Given the description of an element on the screen output the (x, y) to click on. 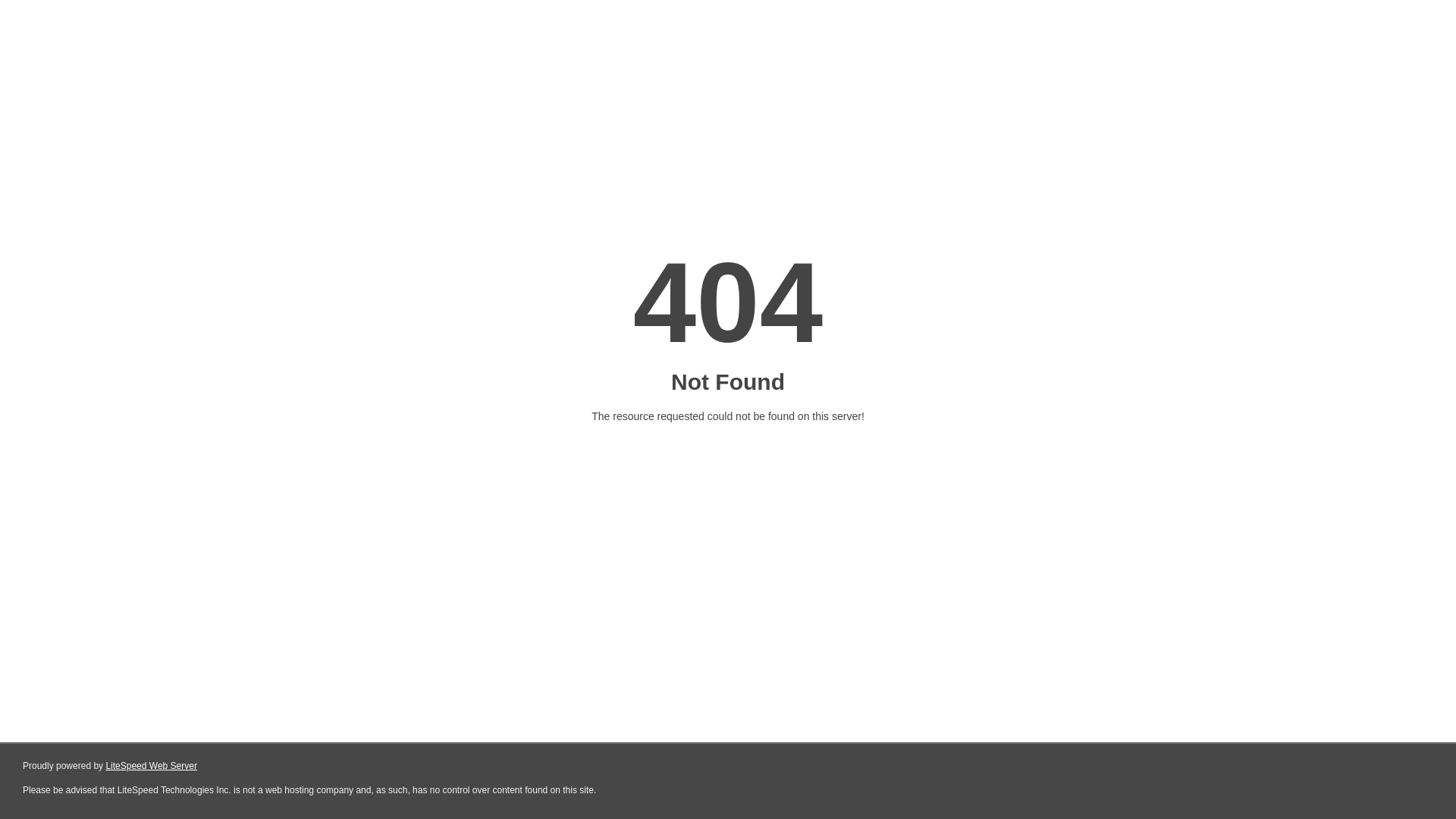
LiteSpeed Web Server Element type: text (151, 765)
